Given the description of an element on the screen output the (x, y) to click on. 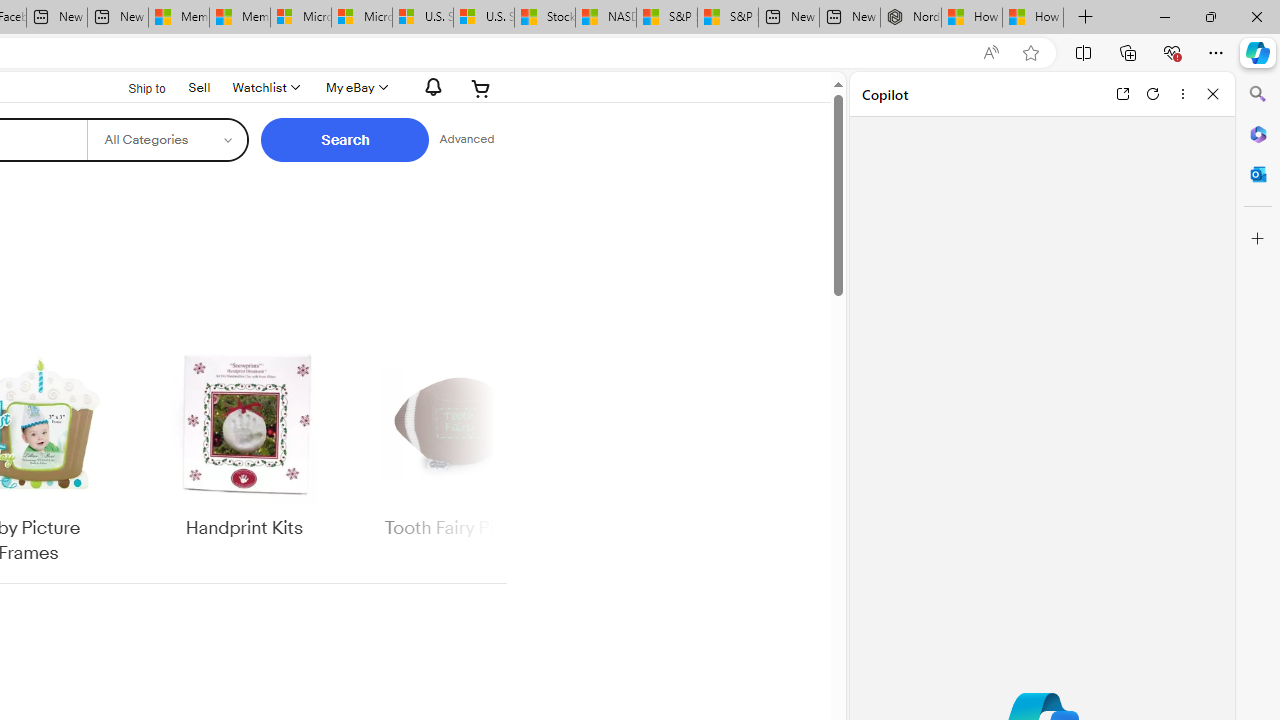
How to Use a Monitor With Your Closed Laptop (1033, 17)
Open link in new tab (1122, 93)
Watchlist (264, 88)
Sell (199, 86)
Handprint Kits (244, 443)
Outlook (1258, 174)
Handprint Kits (244, 455)
Ship to (134, 89)
WatchlistExpand Watch List (264, 88)
AutomationID: gh-eb-Alerts (430, 87)
